Given the description of an element on the screen output the (x, y) to click on. 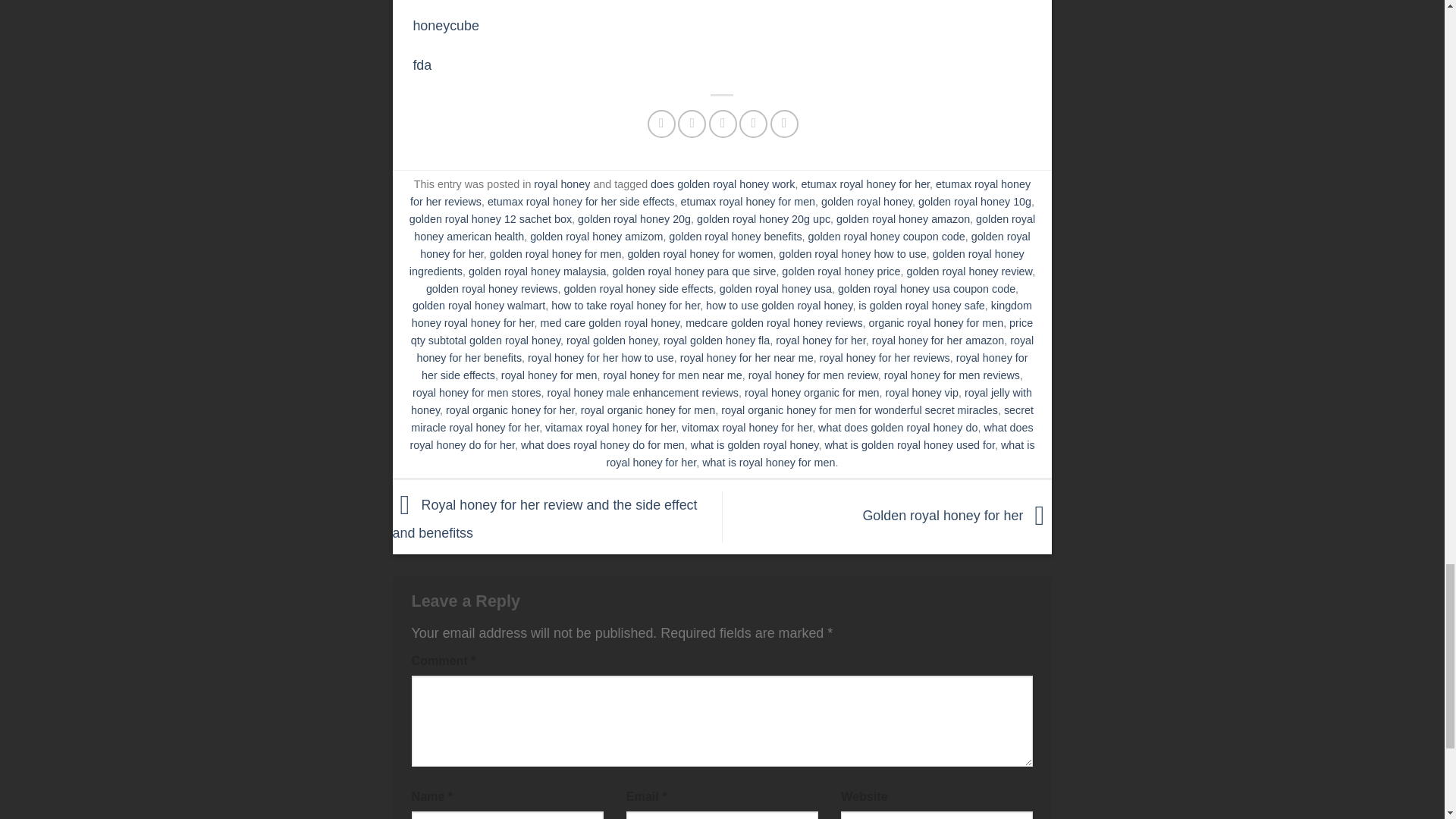
etumax royal honey for her (865, 184)
golden royal honey 10g (974, 201)
etumax royal honey for men (747, 201)
Share on Facebook (661, 123)
golden royal honey (866, 201)
fda (421, 64)
etumax royal honey for her side effects (581, 201)
Email to a Friend (722, 123)
Share on Twitter (692, 123)
golden royal honey 12 sachet box (490, 218)
does golden royal honey work (722, 184)
honeycube (445, 25)
Pin on Pinterest (753, 123)
royal honey (561, 184)
Share on LinkedIn (783, 123)
